Given the description of an element on the screen output the (x, y) to click on. 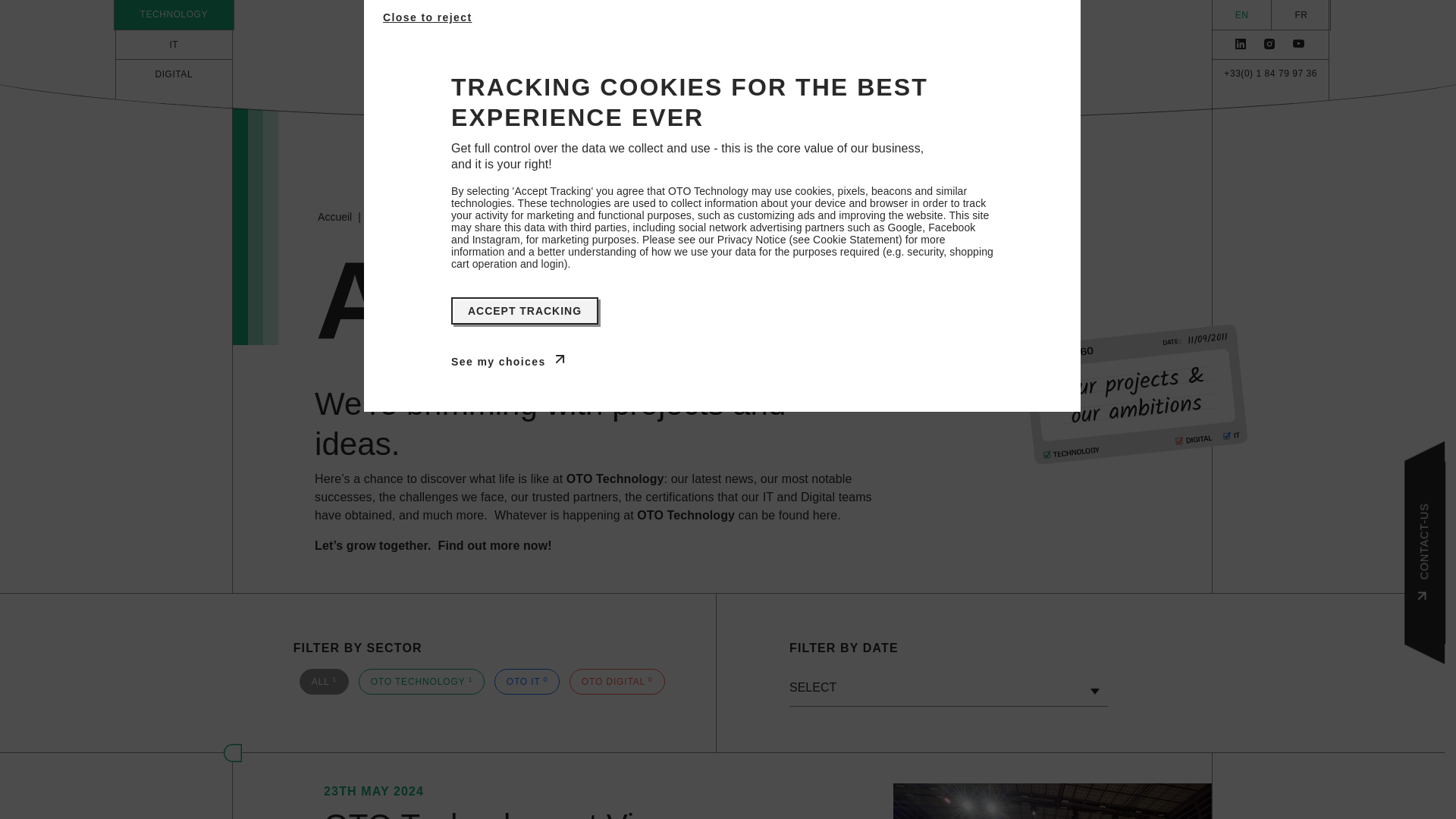
RECRUITING (960, 60)
ACCEPT TRACKING (524, 310)
select (948, 687)
IT (173, 44)
AGENCY (533, 60)
TECHNOLOGY (173, 14)
Accueil (334, 216)
AGENDA (617, 60)
CONTACT (860, 60)
DIGITAL (173, 92)
